Given the description of an element on the screen output the (x, y) to click on. 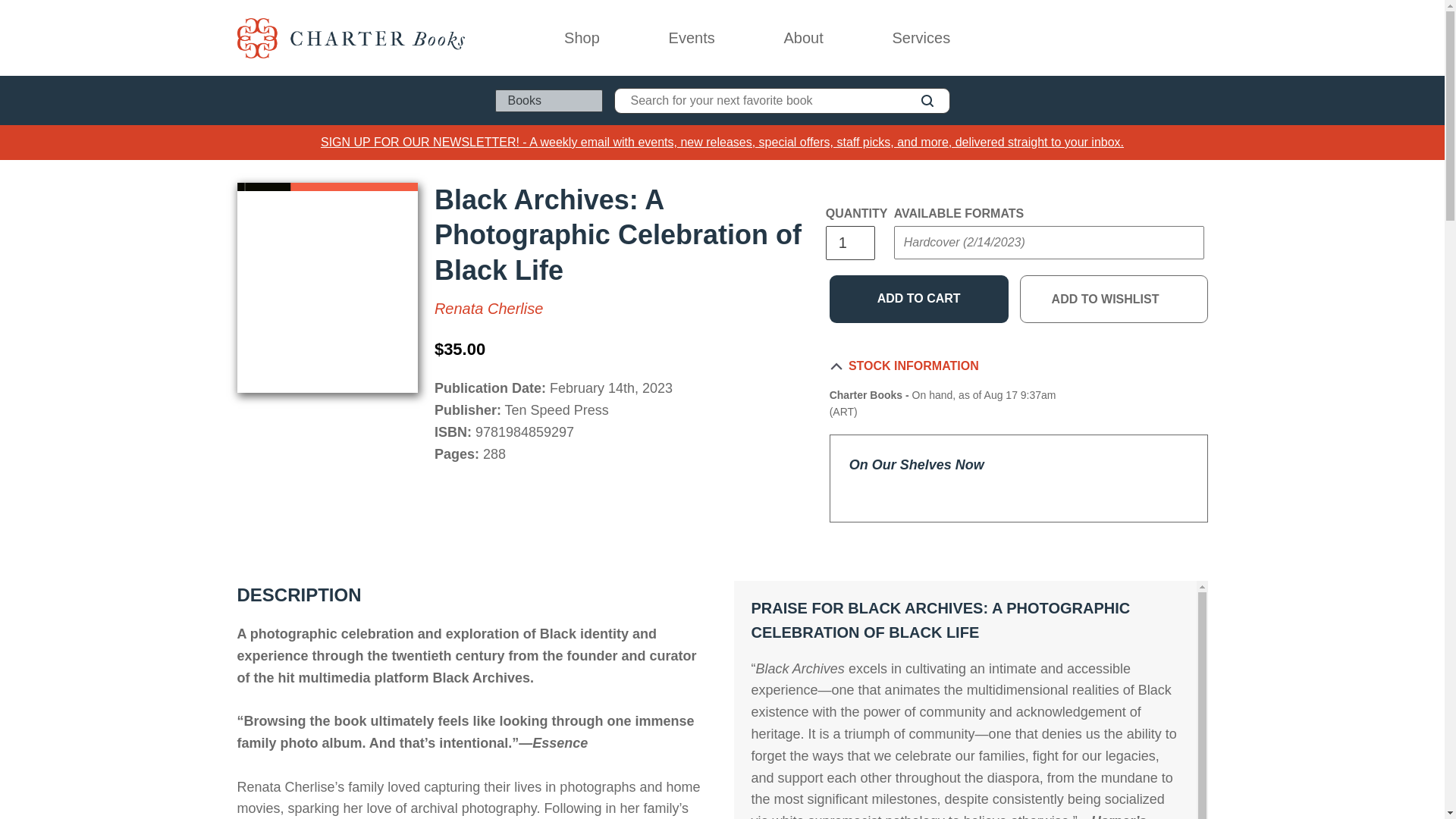
Wishlists (1168, 37)
Log in (1134, 37)
Events (690, 38)
SEARCH (926, 100)
Cart (1201, 37)
Services (920, 38)
Renata Cherlise (488, 308)
Log in (1134, 37)
